Given the description of an element on the screen output the (x, y) to click on. 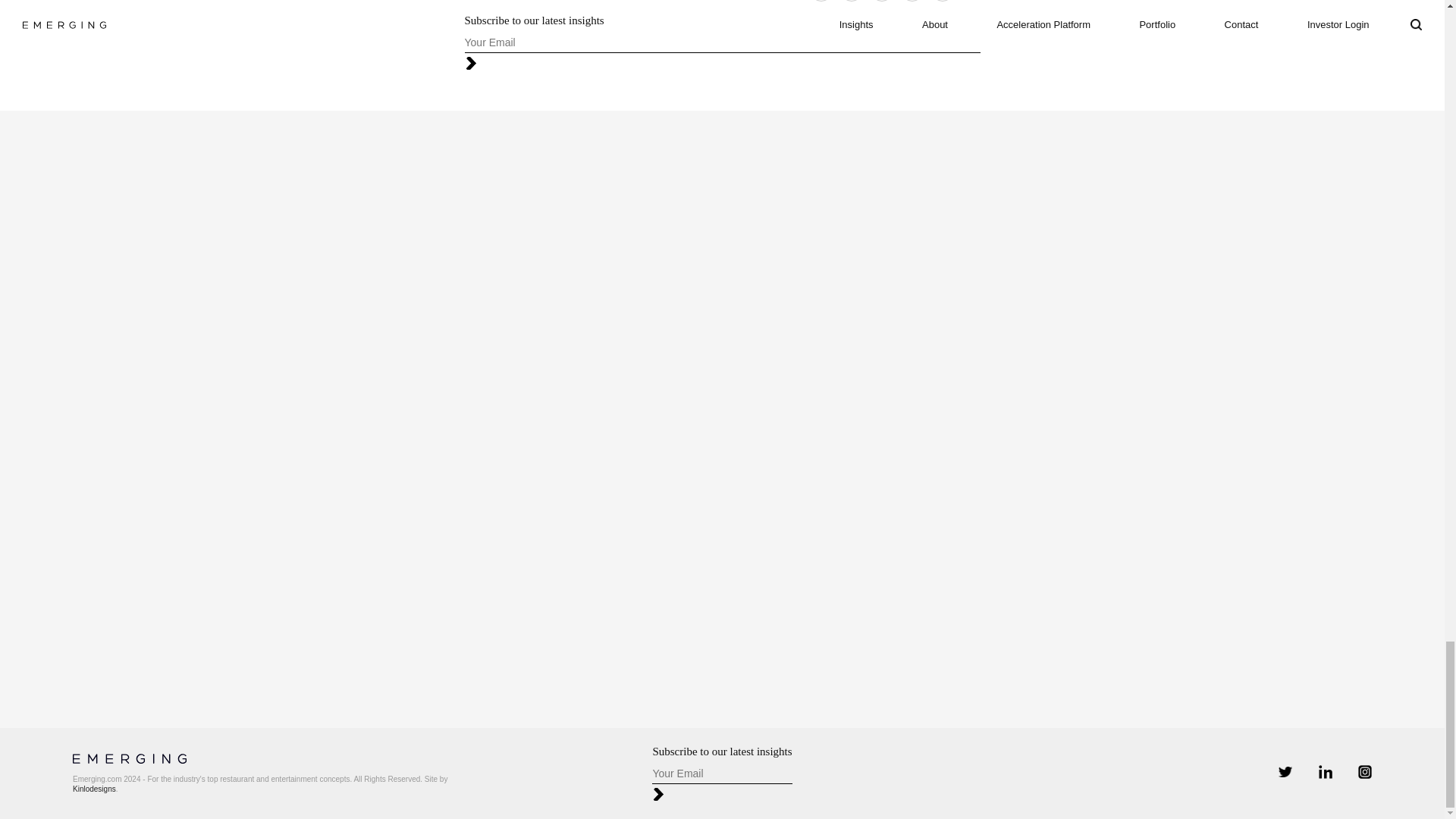
Submit (486, 63)
Submit (674, 794)
